Given the description of an element on the screen output the (x, y) to click on. 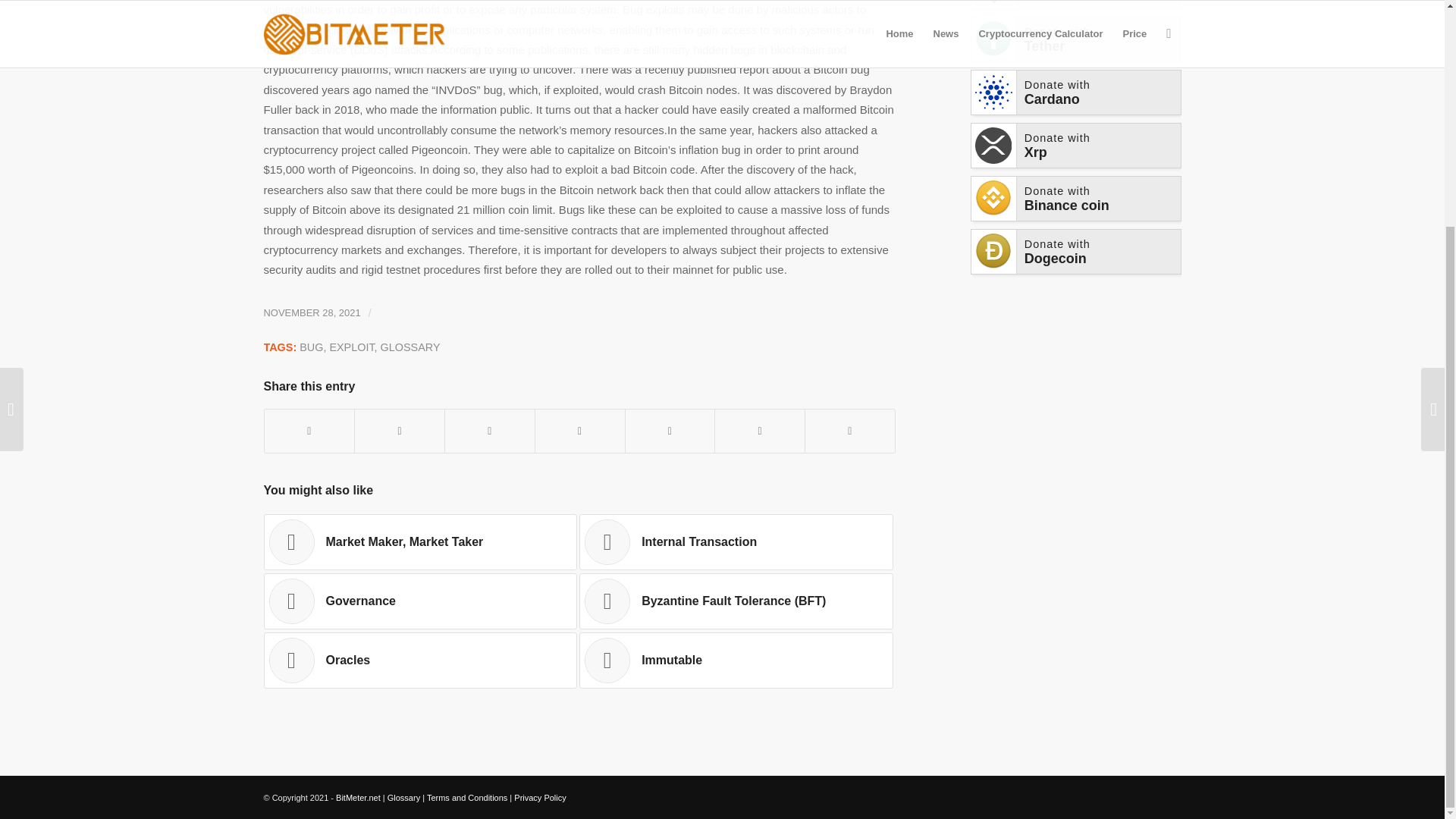
GLOSSARY (410, 346)
Market Maker, Market Taker (420, 542)
Market Maker, Market Taker (420, 542)
BUG (311, 346)
Oracles (420, 660)
Governance (420, 601)
EXPLOIT (351, 346)
Internal Transaction (736, 542)
